Given the description of an element on the screen output the (x, y) to click on. 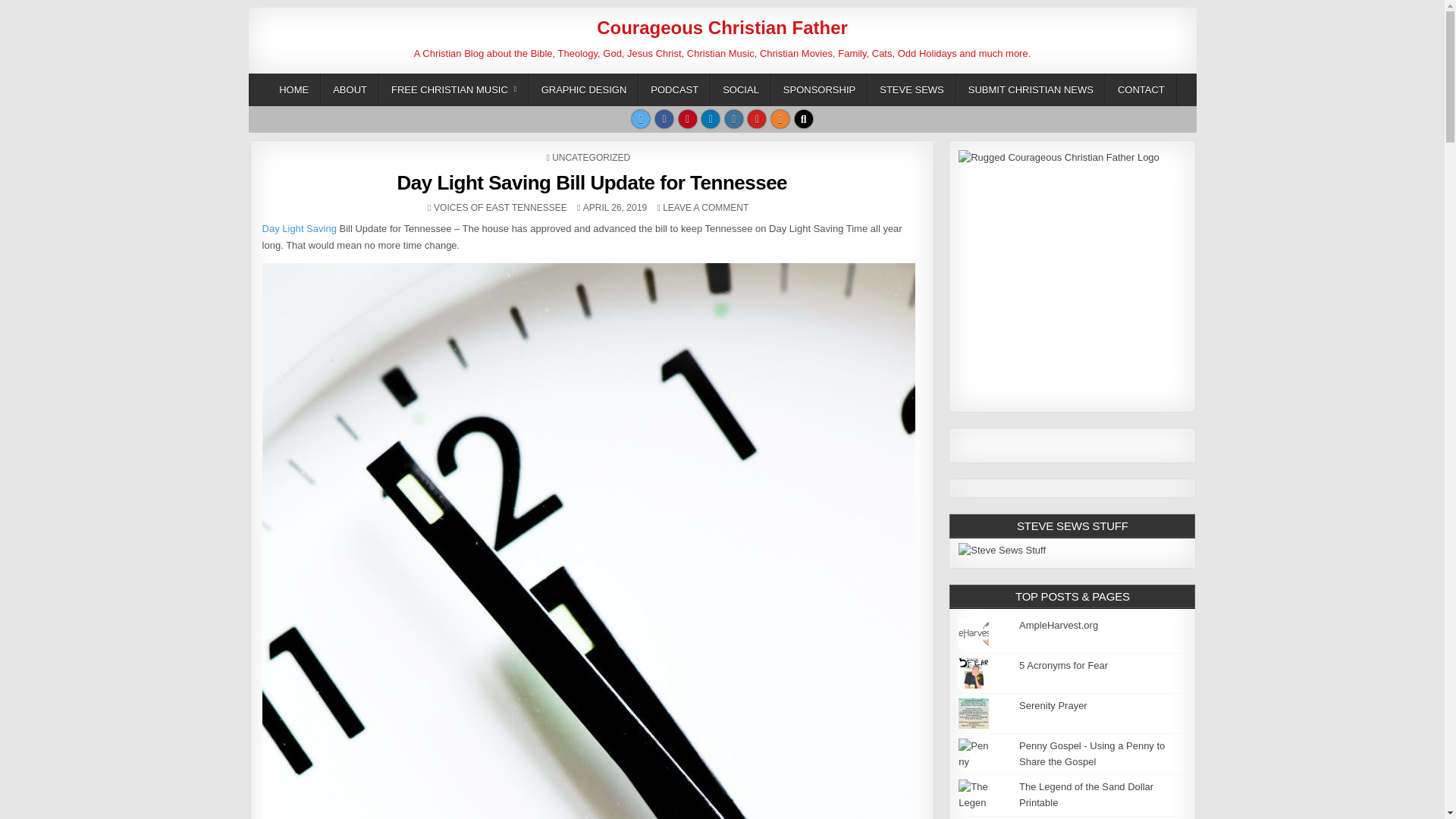
Youtube (756, 118)
Twitter (640, 118)
SPONSORSHIP (819, 89)
FREE CHRISTIAN MUSIC (453, 89)
SOCIAL (740, 89)
GRAPHIC DESIGN (584, 89)
Day Light Saving Bill Update for Tennessee (592, 182)
HOME (293, 89)
Facebook (663, 118)
UNCATEGORIZED (590, 157)
